Given the description of an element on the screen output the (x, y) to click on. 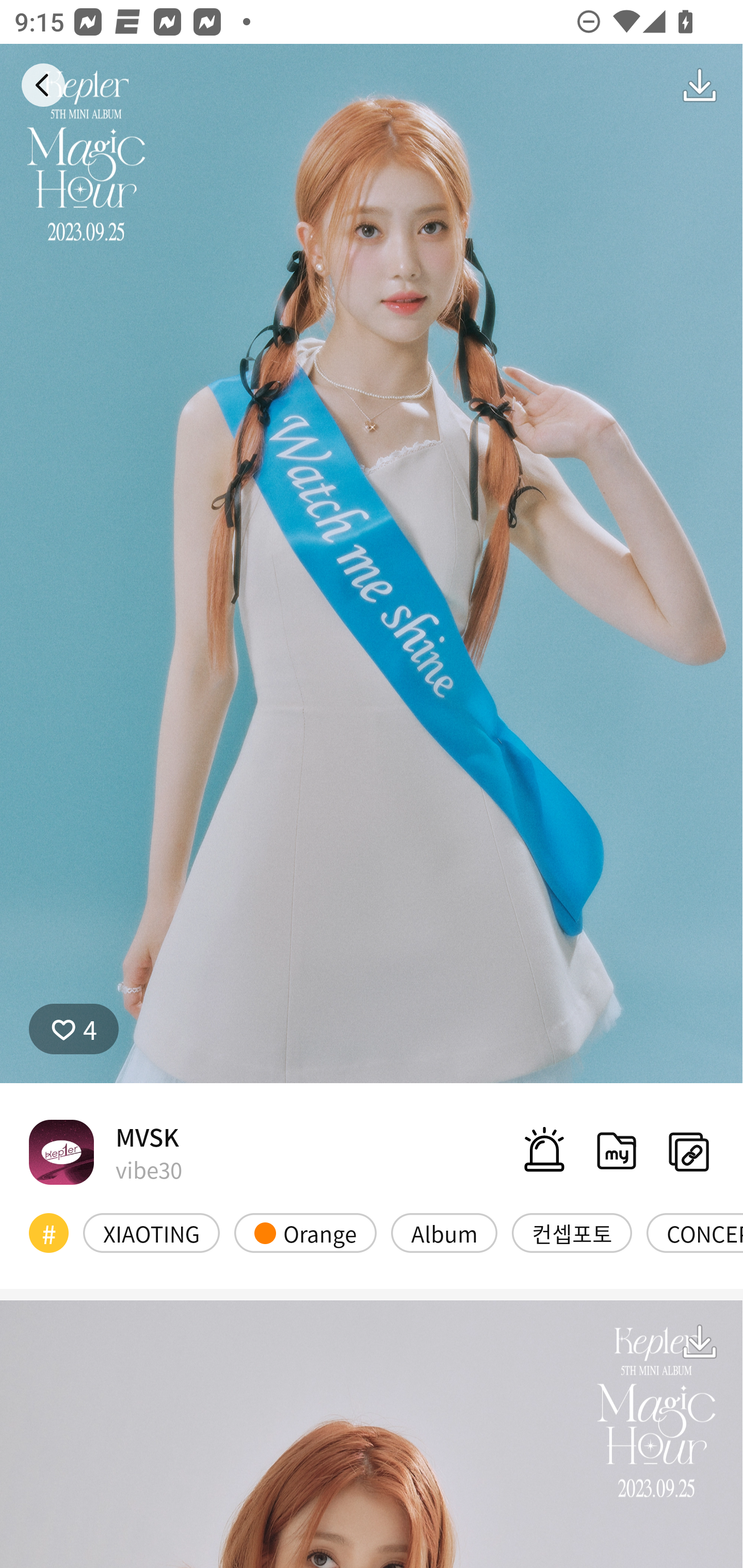
4 (73, 1029)
MVSK vibe30 (105, 1151)
XIAOTING (151, 1232)
Orange (305, 1232)
Album (443, 1232)
컨셉포토 (571, 1232)
CONCEPTPHOTO (694, 1232)
